Given the description of an element on the screen output the (x, y) to click on. 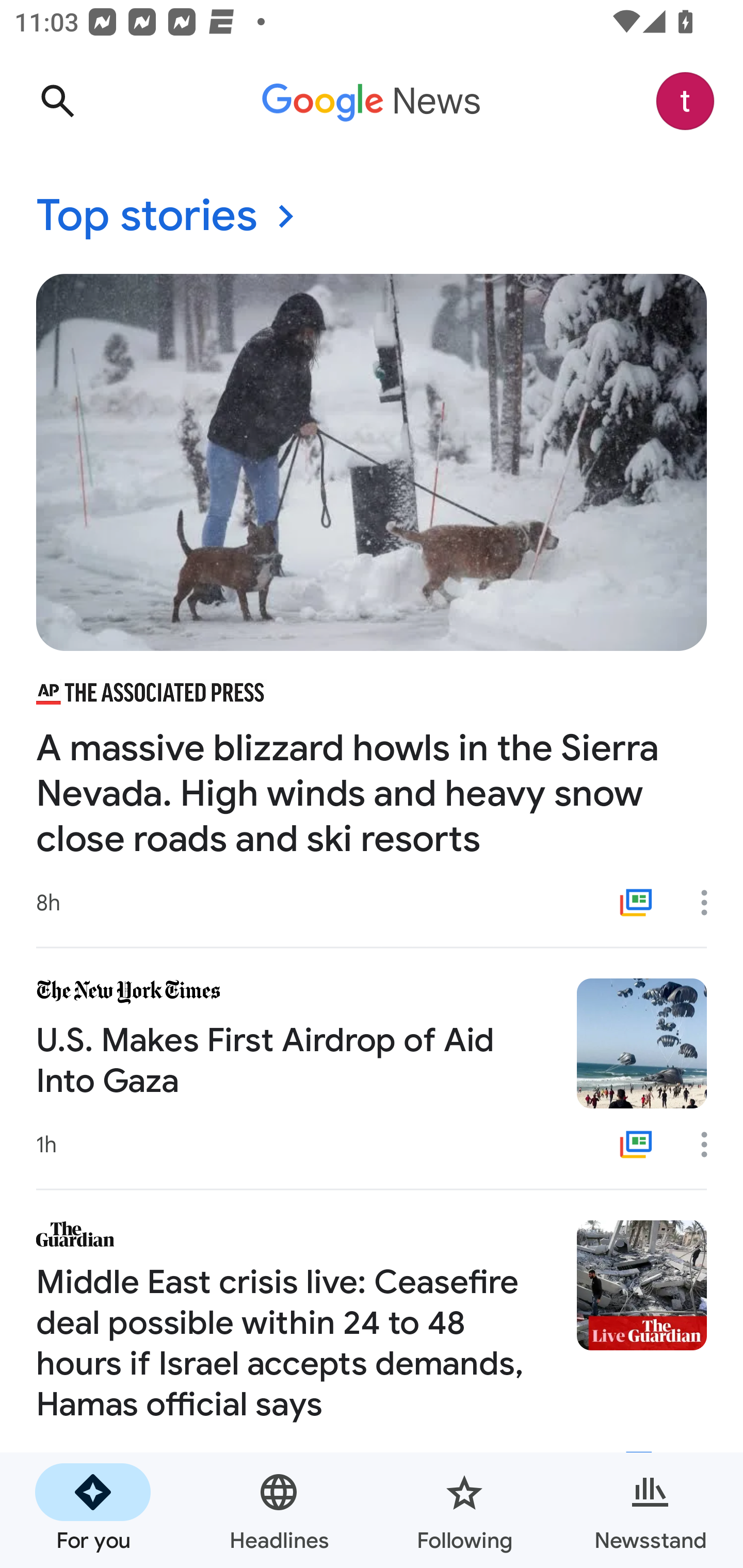
Search (57, 100)
Top stories (371, 216)
More options (711, 902)
More options (711, 1144)
For you (92, 1509)
Headlines (278, 1509)
Following (464, 1509)
Newsstand (650, 1509)
